Given the description of an element on the screen output the (x, y) to click on. 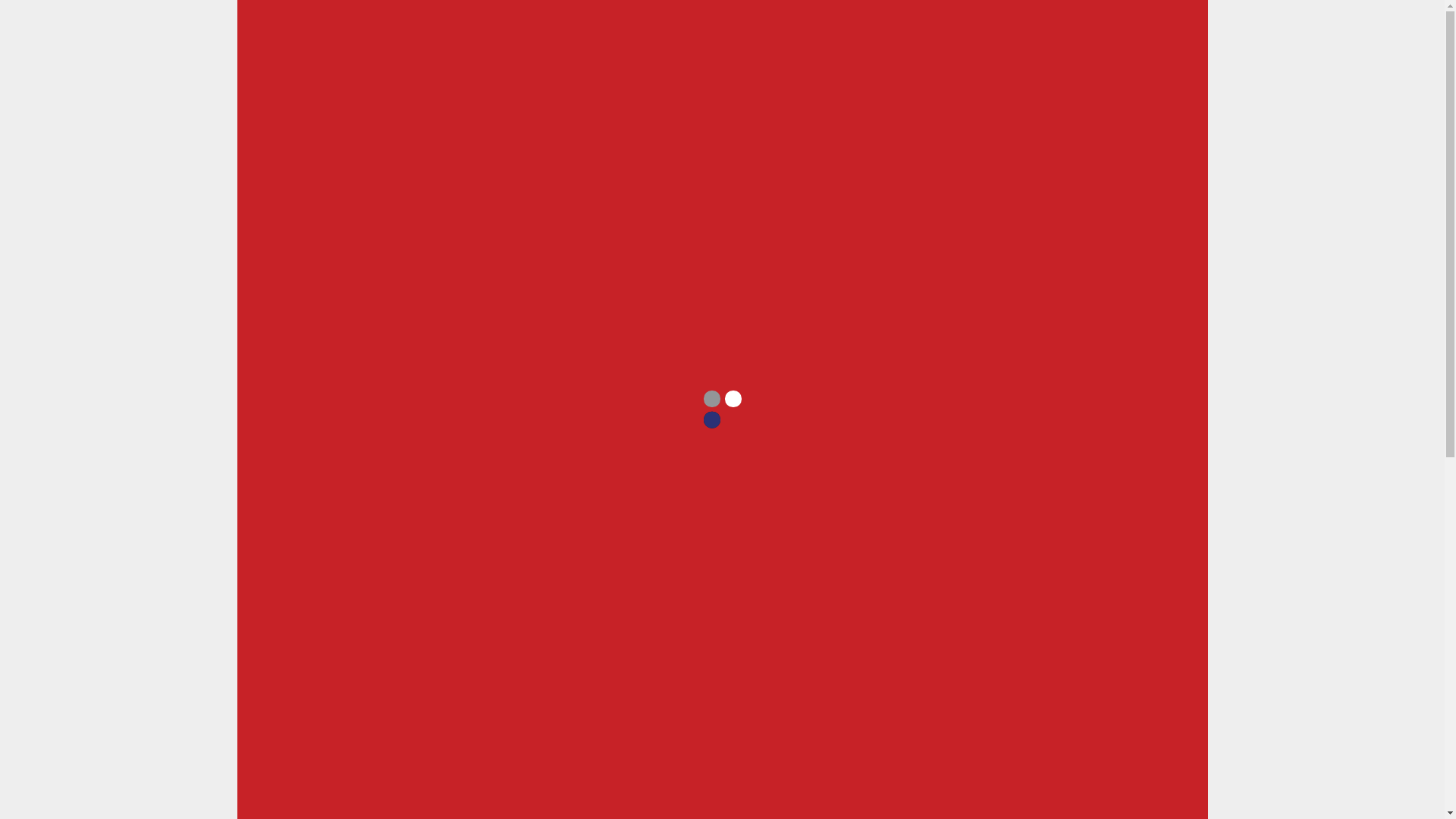
YOUTUBE (648, 38)
Subscribe (667, 443)
HOMEPAGE (741, 42)
PODCASTS (512, 38)
Submit (21, 7)
